Given the description of an element on the screen output the (x, y) to click on. 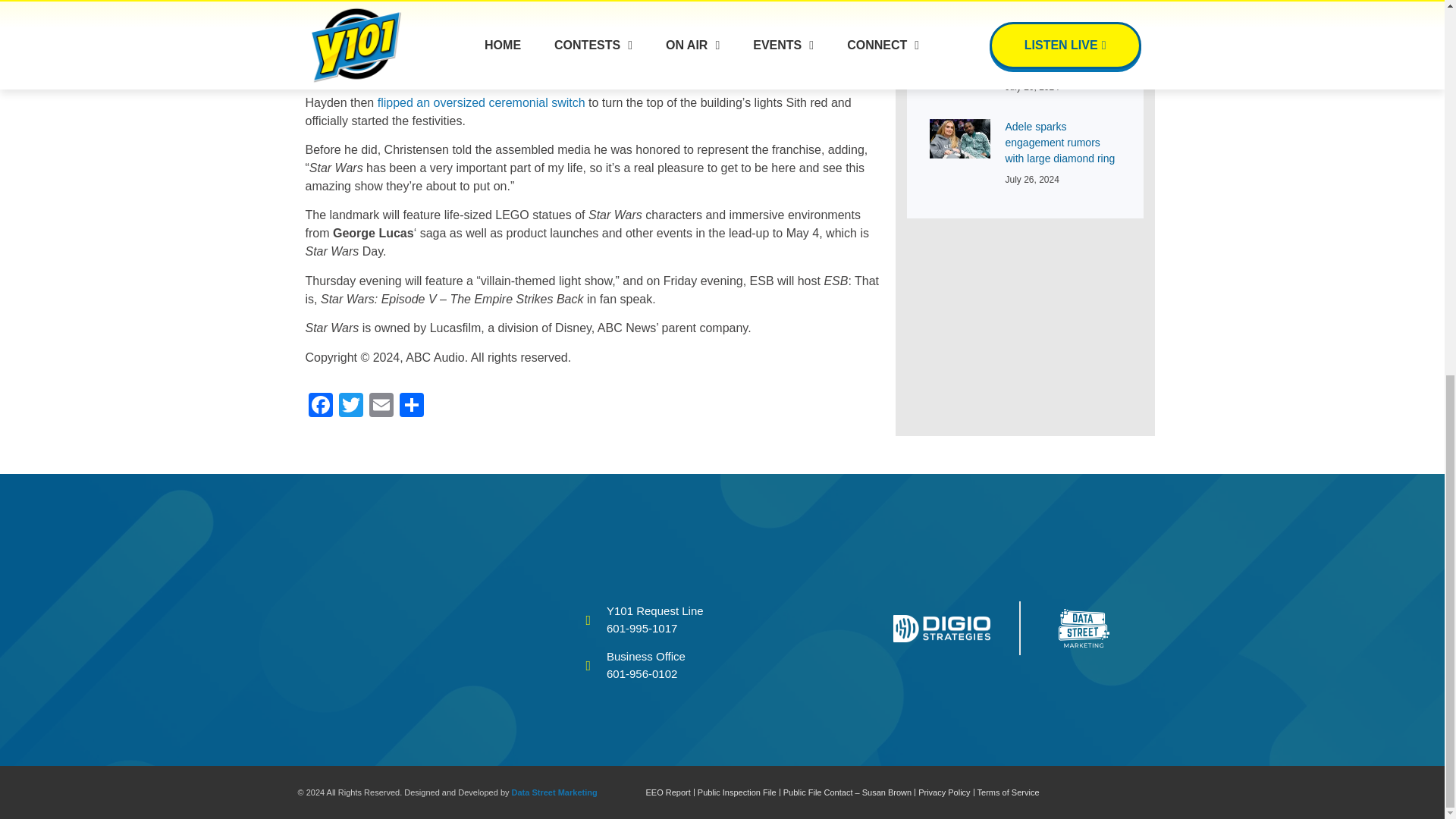
Facebook (319, 406)
Email (380, 406)
Twitter (349, 406)
